Given the description of an element on the screen output the (x, y) to click on. 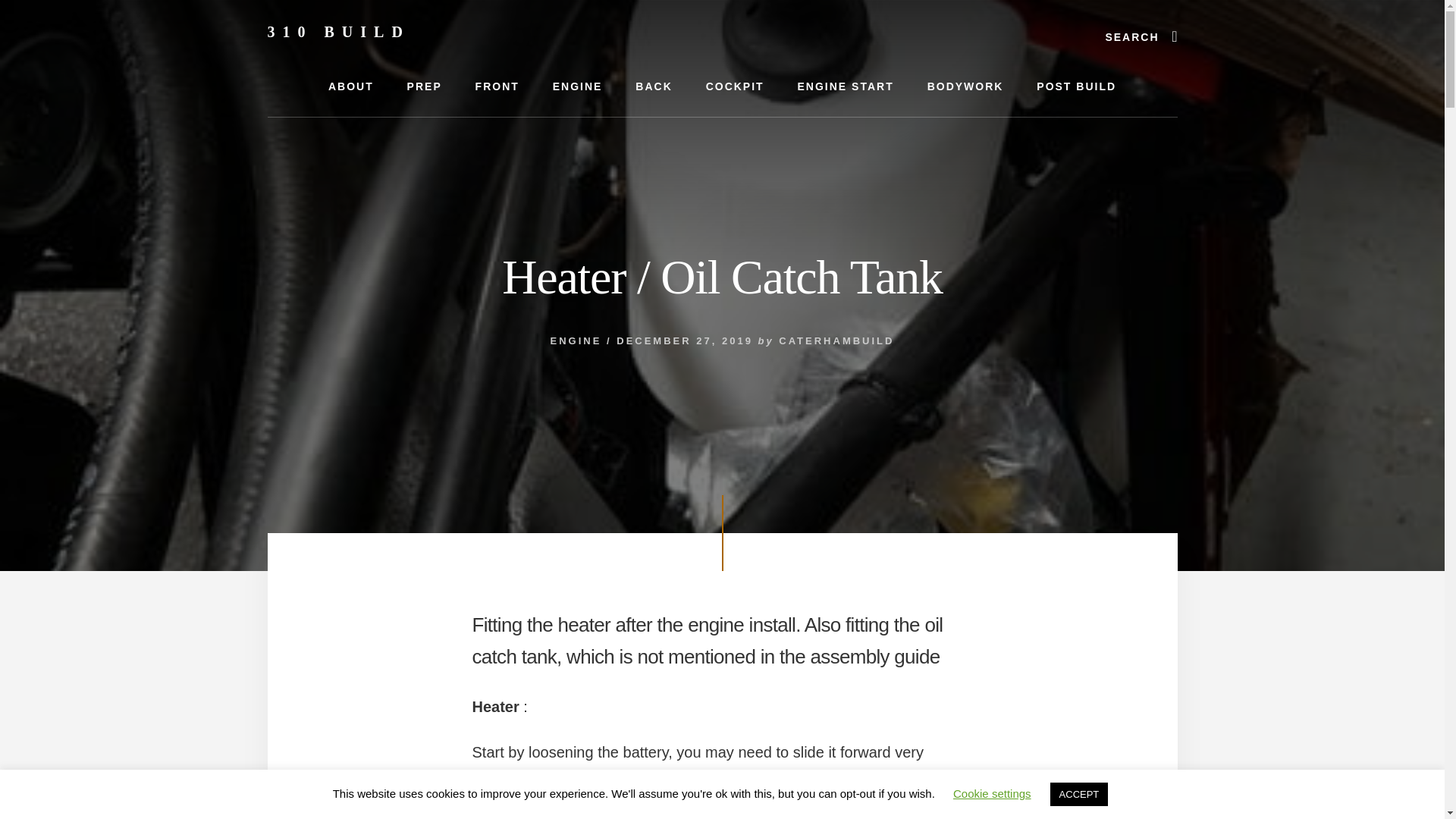
BACK (653, 86)
PREP (424, 86)
FRONT (497, 86)
ABOUT (350, 86)
ENGINE (577, 86)
310 BUILD (337, 31)
